Given the description of an element on the screen output the (x, y) to click on. 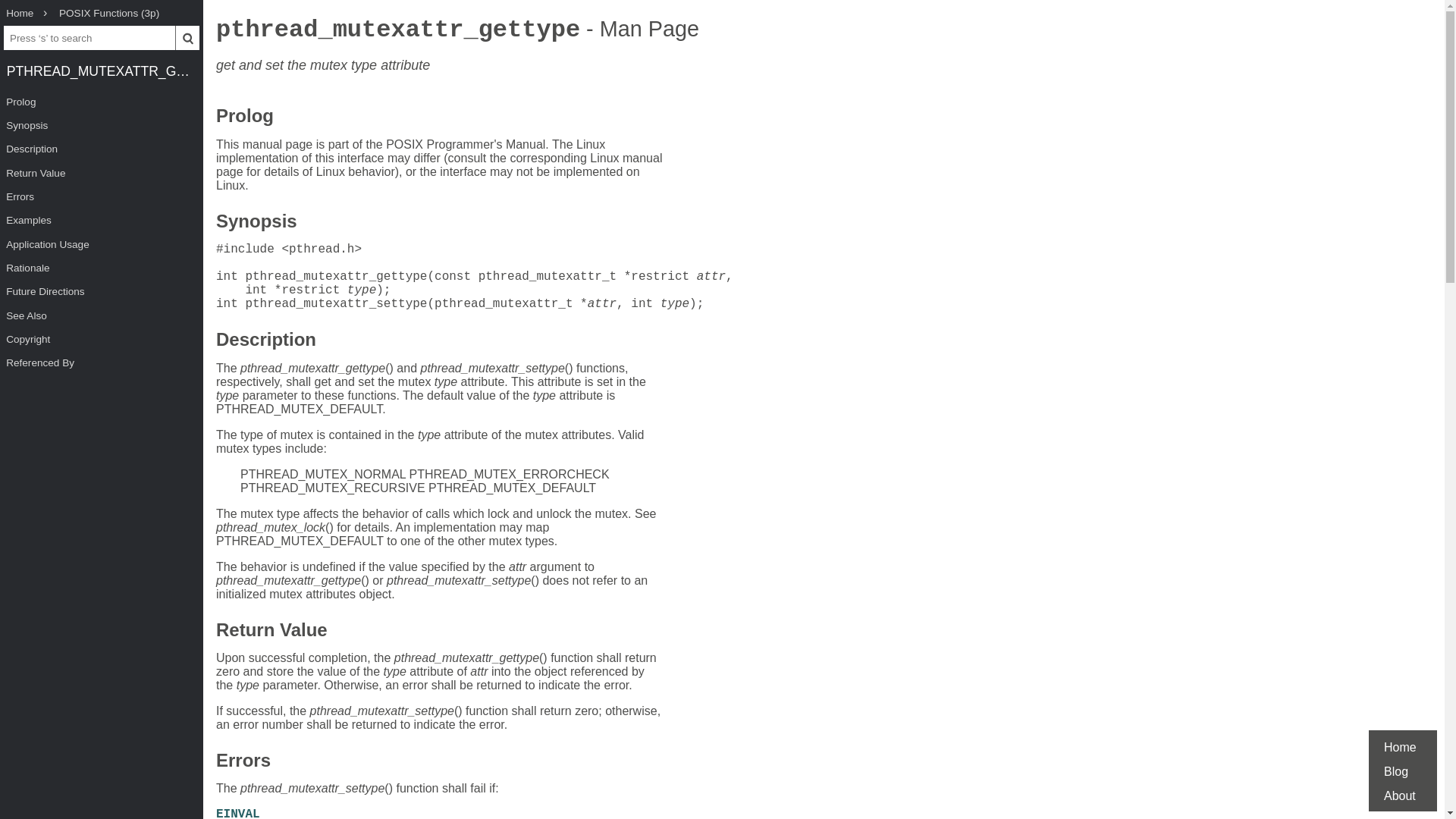
Errors (101, 196)
Future Directions (101, 291)
Application Usage (101, 244)
Description (265, 341)
Rationale (101, 268)
Home (20, 13)
About (1399, 795)
Blog (1395, 771)
Referenced By (101, 362)
Prolog (101, 101)
